Given the description of an element on the screen output the (x, y) to click on. 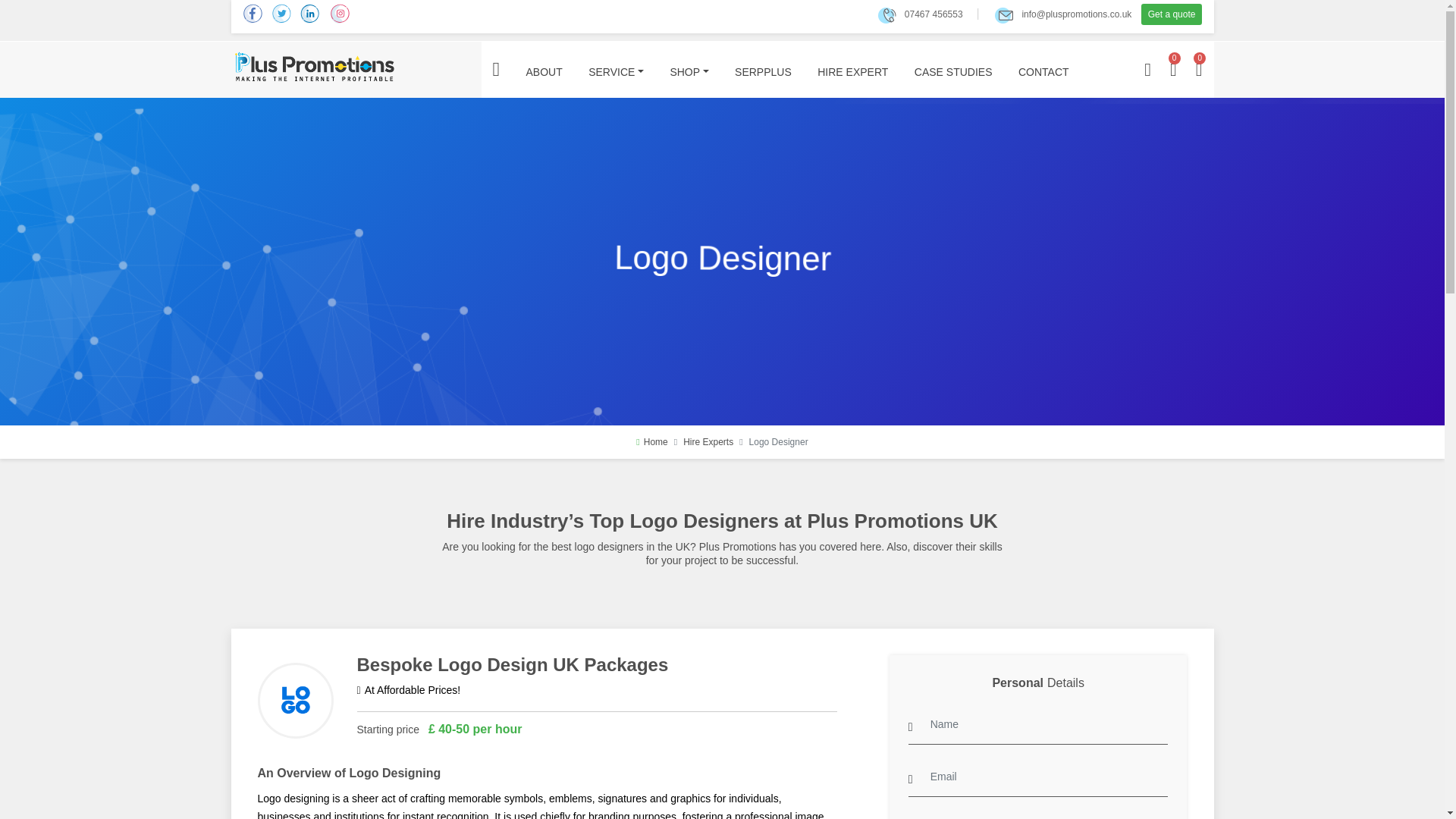
07467 456553 (919, 14)
SERVICE (615, 71)
ABOUT (543, 71)
Get a quote (1171, 14)
Home (651, 441)
Hire Experts (707, 441)
